Given the description of an element on the screen output the (x, y) to click on. 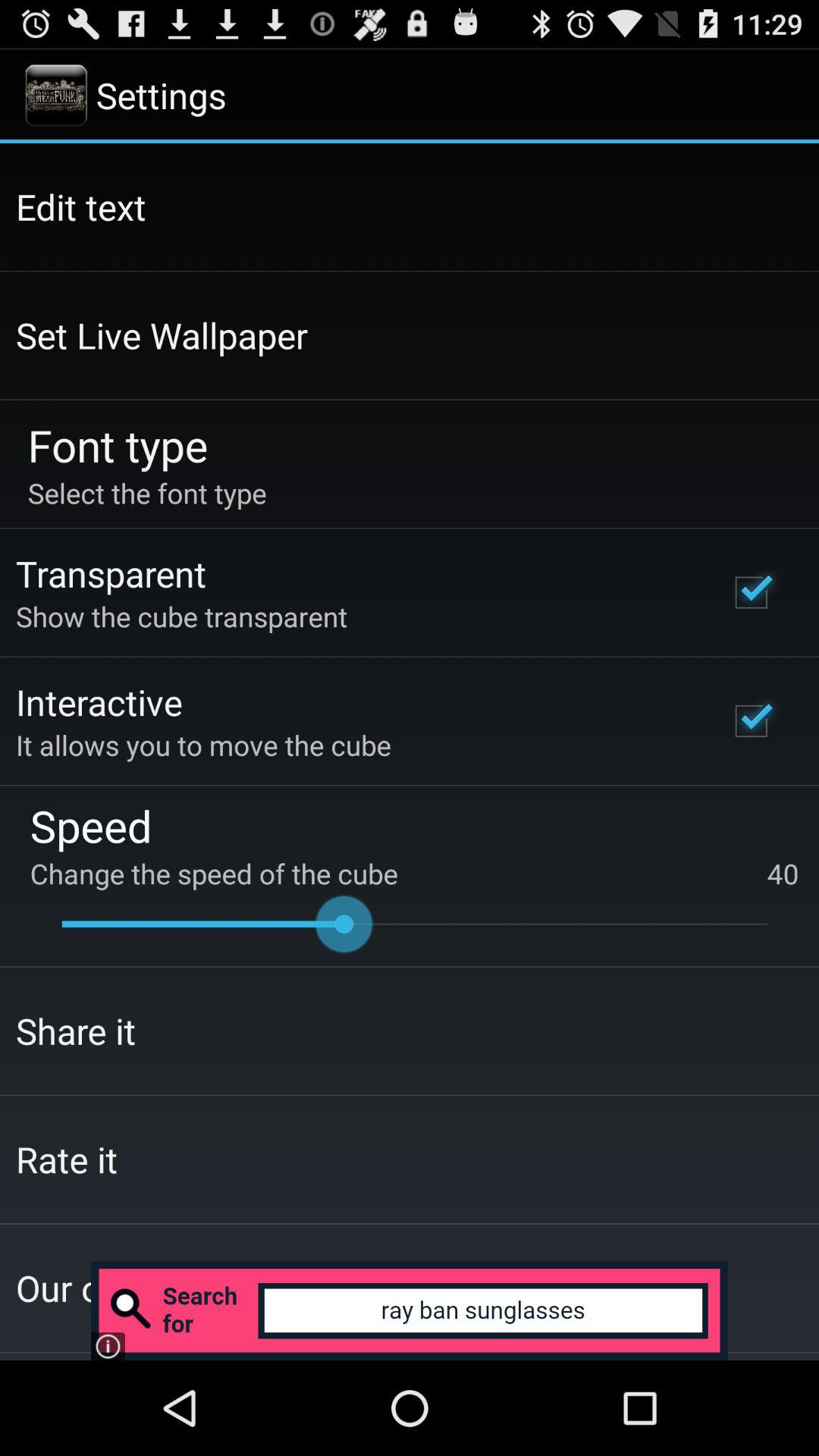
select the icon above it allows you icon (98, 701)
